Given the description of an element on the screen output the (x, y) to click on. 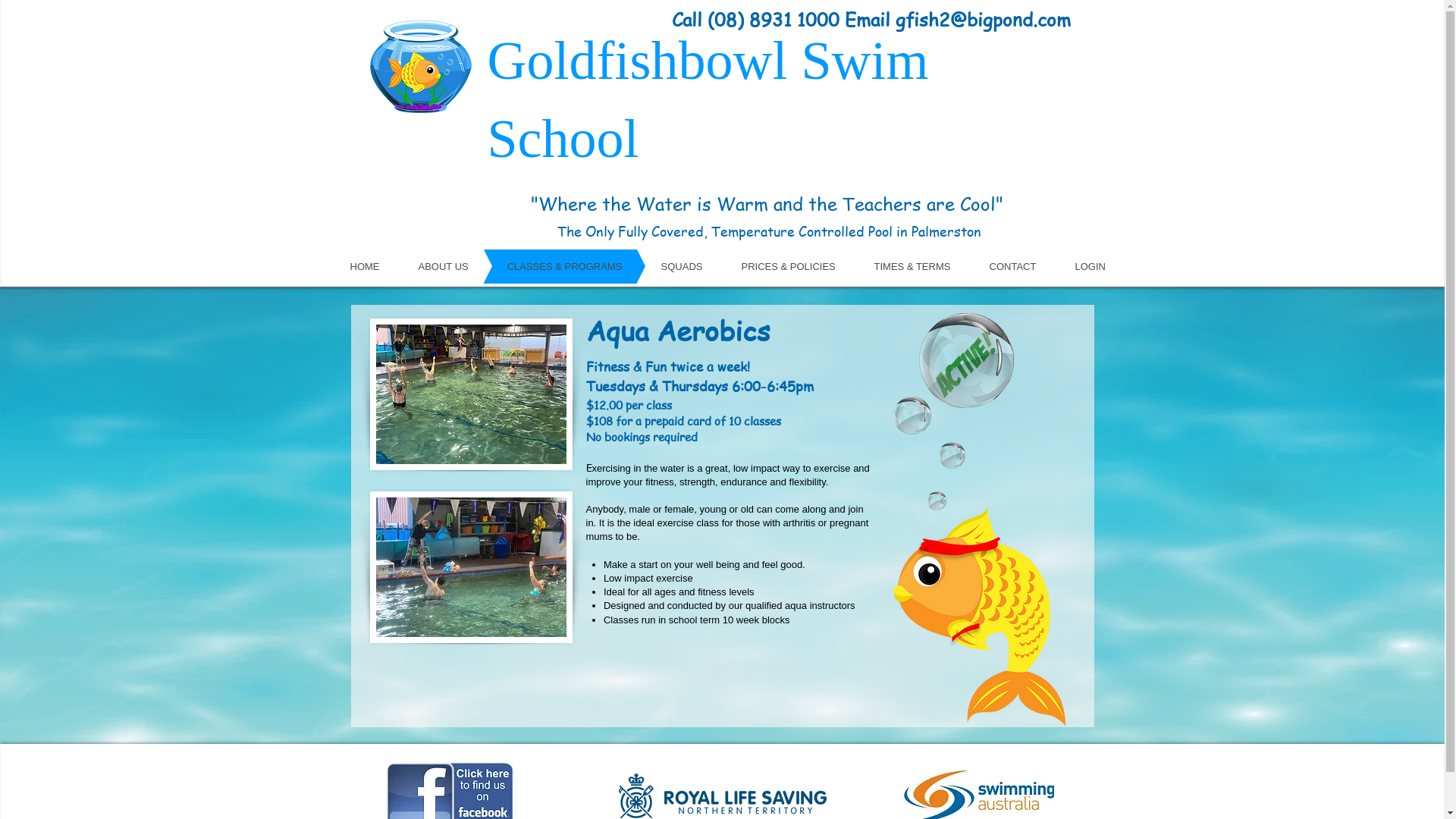
bubble.png Element type: hover (951, 455)
bubble.png Element type: hover (912, 415)
Dropifi Contact Widget Element type: hover (1429, 409)
CLASSES & PROGRAMS Element type: text (541, 266)
aqua.jpg Element type: hover (471, 394)
Gold_fish_bowl_logo.png Element type: hover (420, 66)
LOGIN Element type: text (1067, 266)
bubble.png Element type: hover (935, 500)
bubble.png Element type: hover (966, 360)
areobics goldfish.png Element type: hover (979, 616)
ABOUT US Element type: text (420, 266)
PRICES & POLICIES Element type: text (765, 266)
aq.jpg Element type: hover (471, 567)
TIMES & TERMS Element type: text (888, 266)
active.png Element type: hover (965, 364)
HOME Element type: text (342, 266)
gfish2@bigpond.com Element type: text (982, 18)
CONTACT Element type: text (989, 266)
SQUADS Element type: text (659, 266)
